Given the description of an element on the screen output the (x, y) to click on. 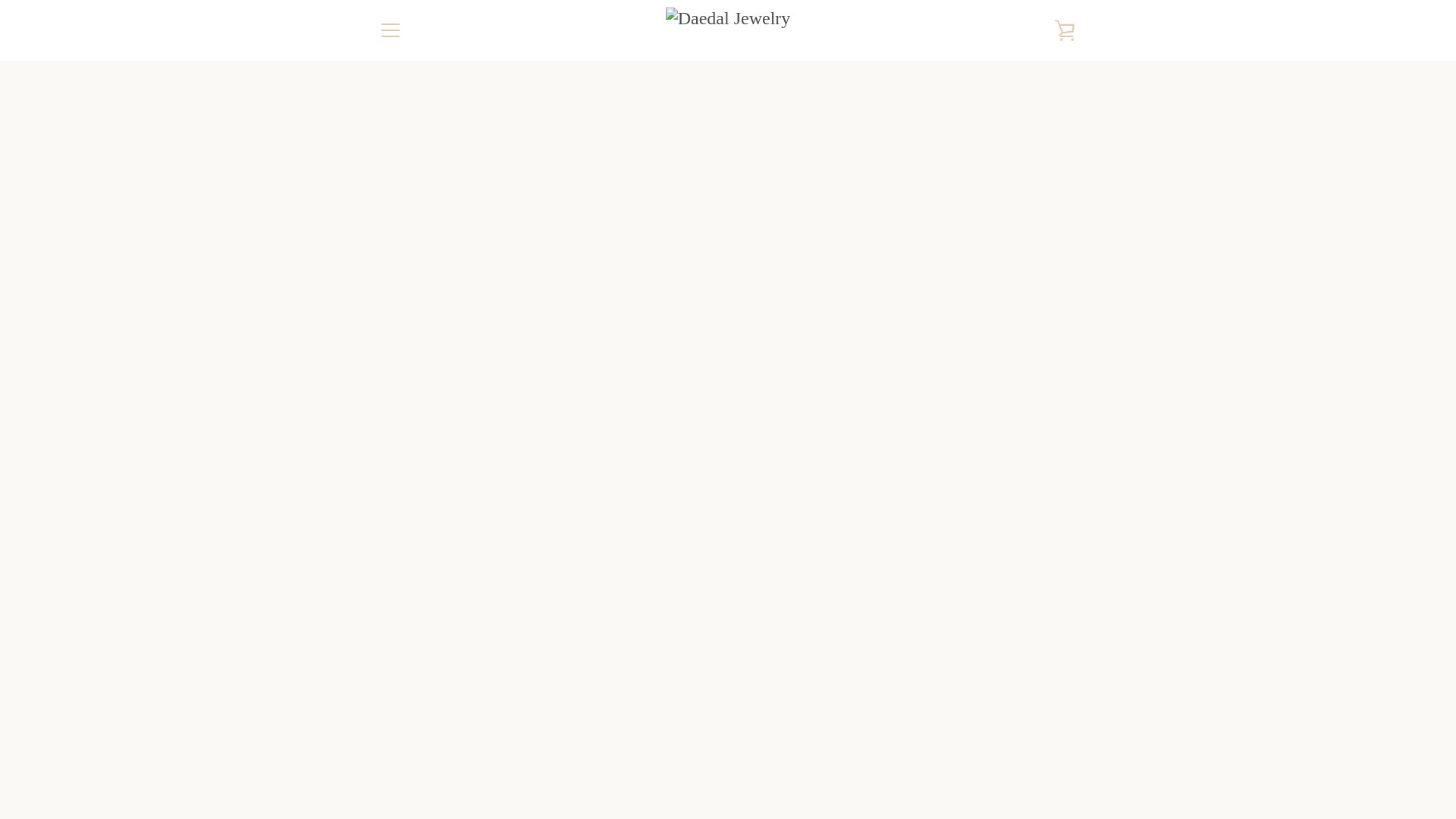
EXPAND NAVIGATION (390, 30)
VIEW CART (1065, 30)
